Given the description of an element on the screen output the (x, y) to click on. 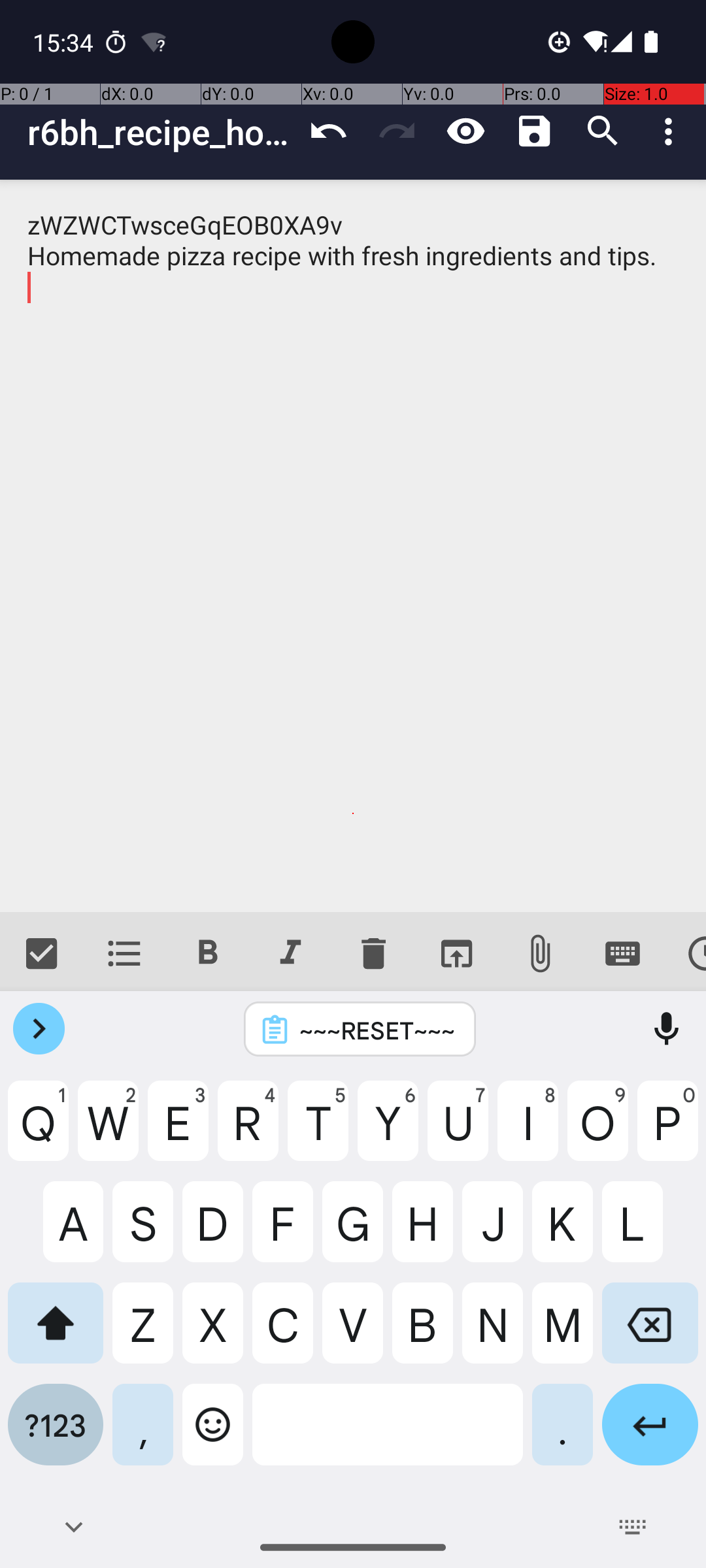
r6bh_recipe_homemade_pizza Element type: android.widget.TextView (160, 131)
zWZWCTwsceGqEOB0XA9v
Homemade pizza recipe with fresh ingredients and tips.
 Element type: android.widget.EditText (353, 545)
